Given the description of an element on the screen output the (x, y) to click on. 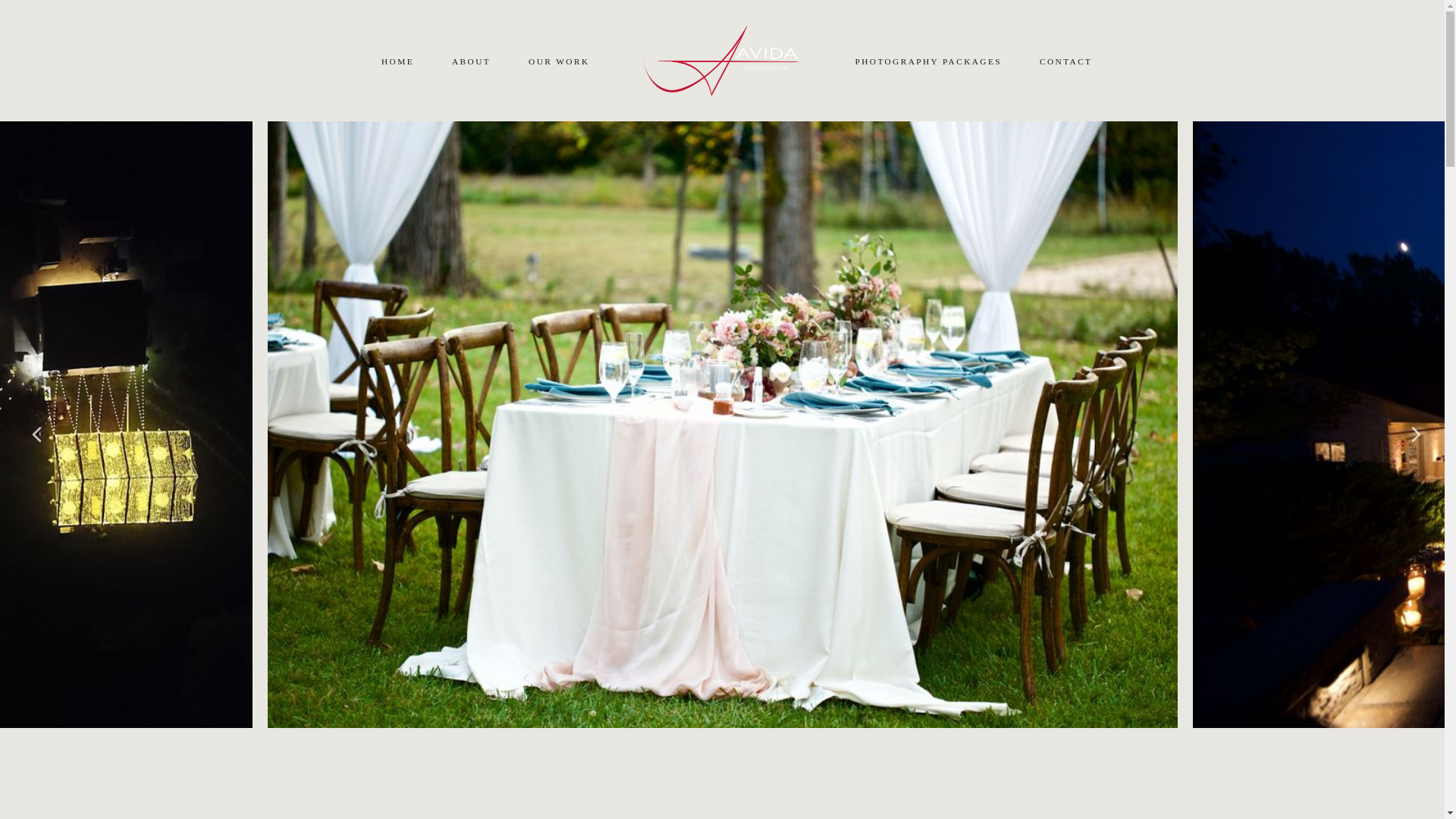
PHOTOGRAPHY PACKAGES (927, 61)
HOME (397, 61)
OUR WORK (558, 61)
CONTACT (1065, 61)
ABOUT (470, 61)
